Given the description of an element on the screen output the (x, y) to click on. 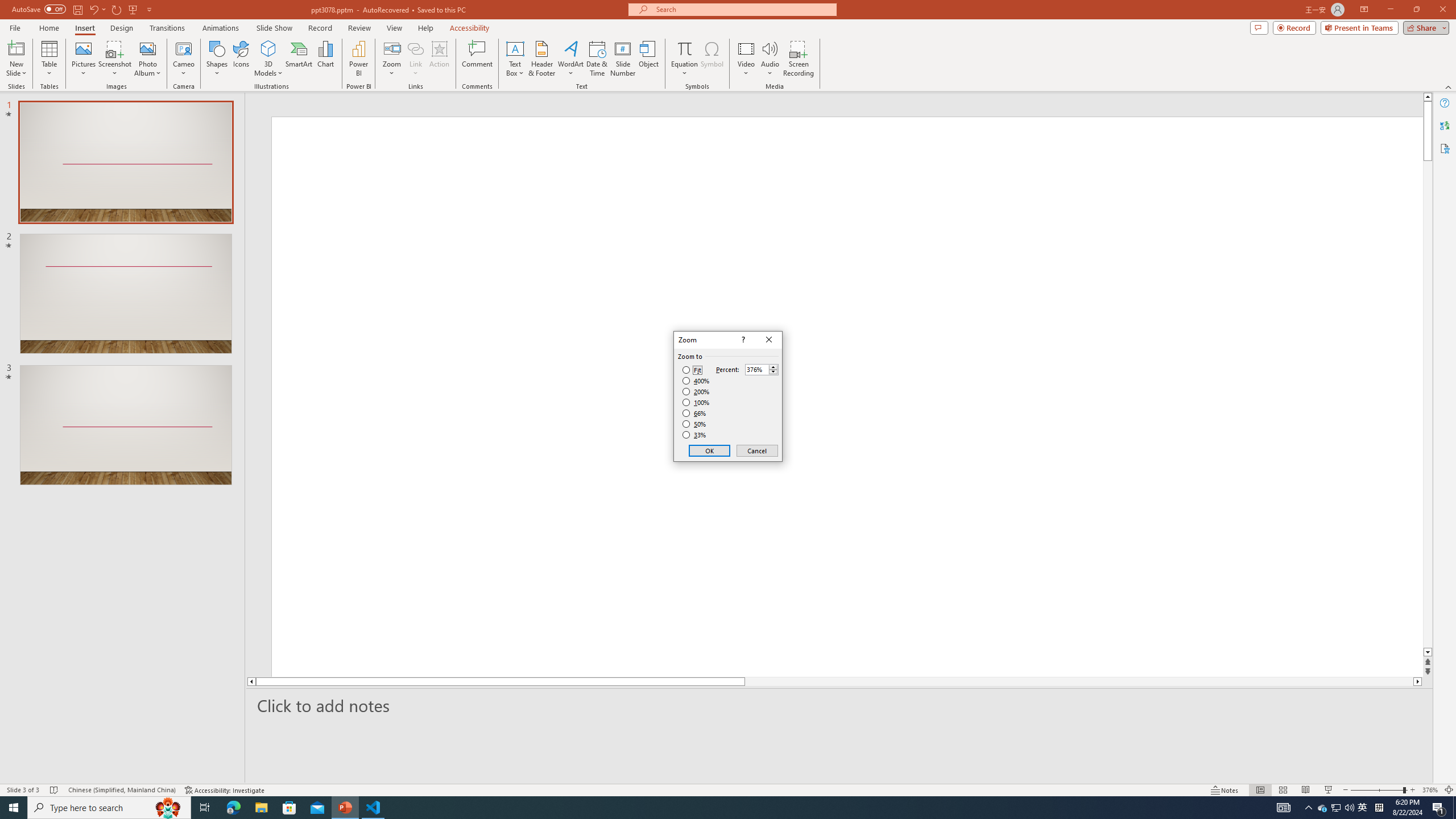
3D Models (268, 58)
Draw Horizontal Text Box (515, 48)
Screen Recording... (798, 58)
Link (415, 58)
